Given the description of an element on the screen output the (x, y) to click on. 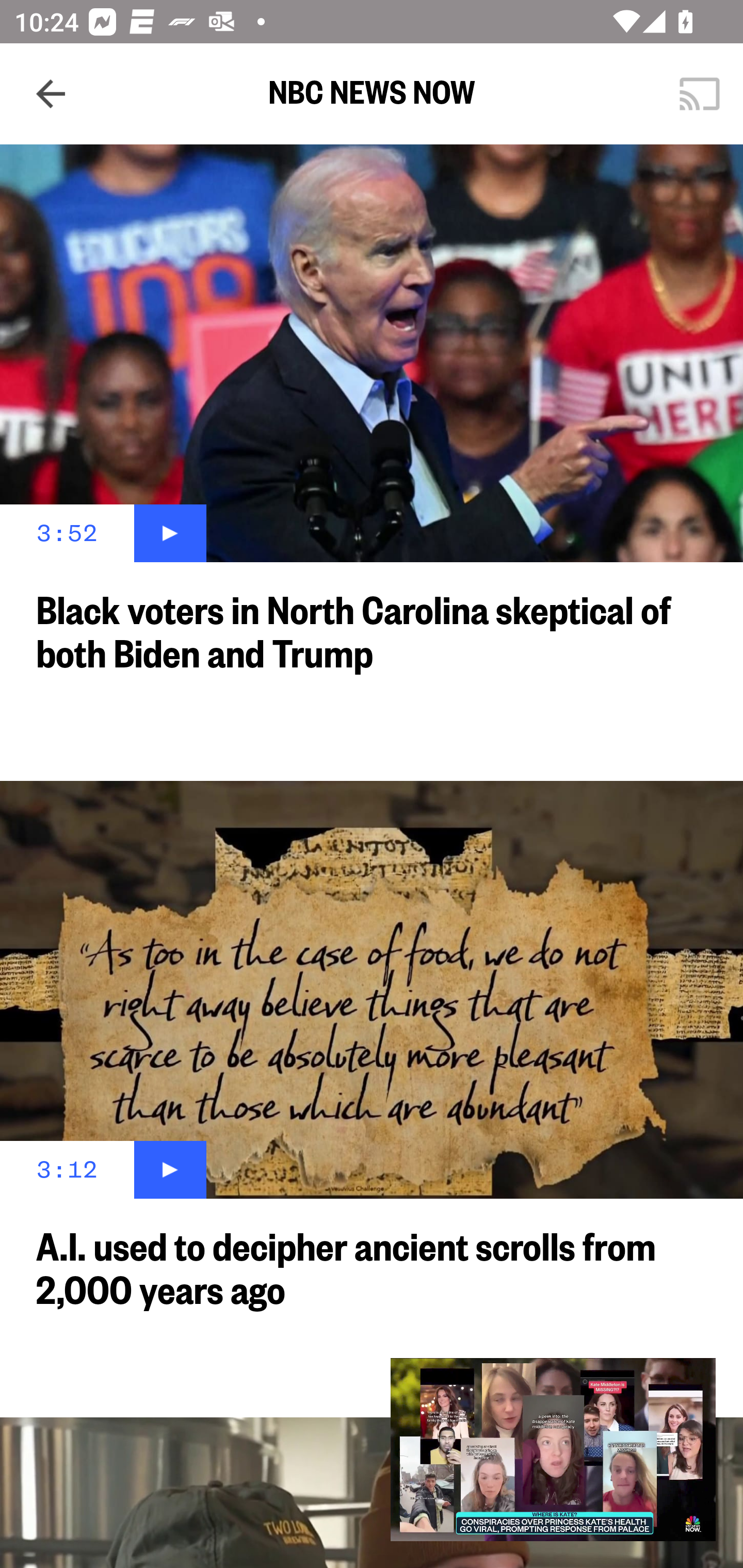
Navigate up (50, 93)
Cast. Disconnected (699, 93)
